Given the description of an element on the screen output the (x, y) to click on. 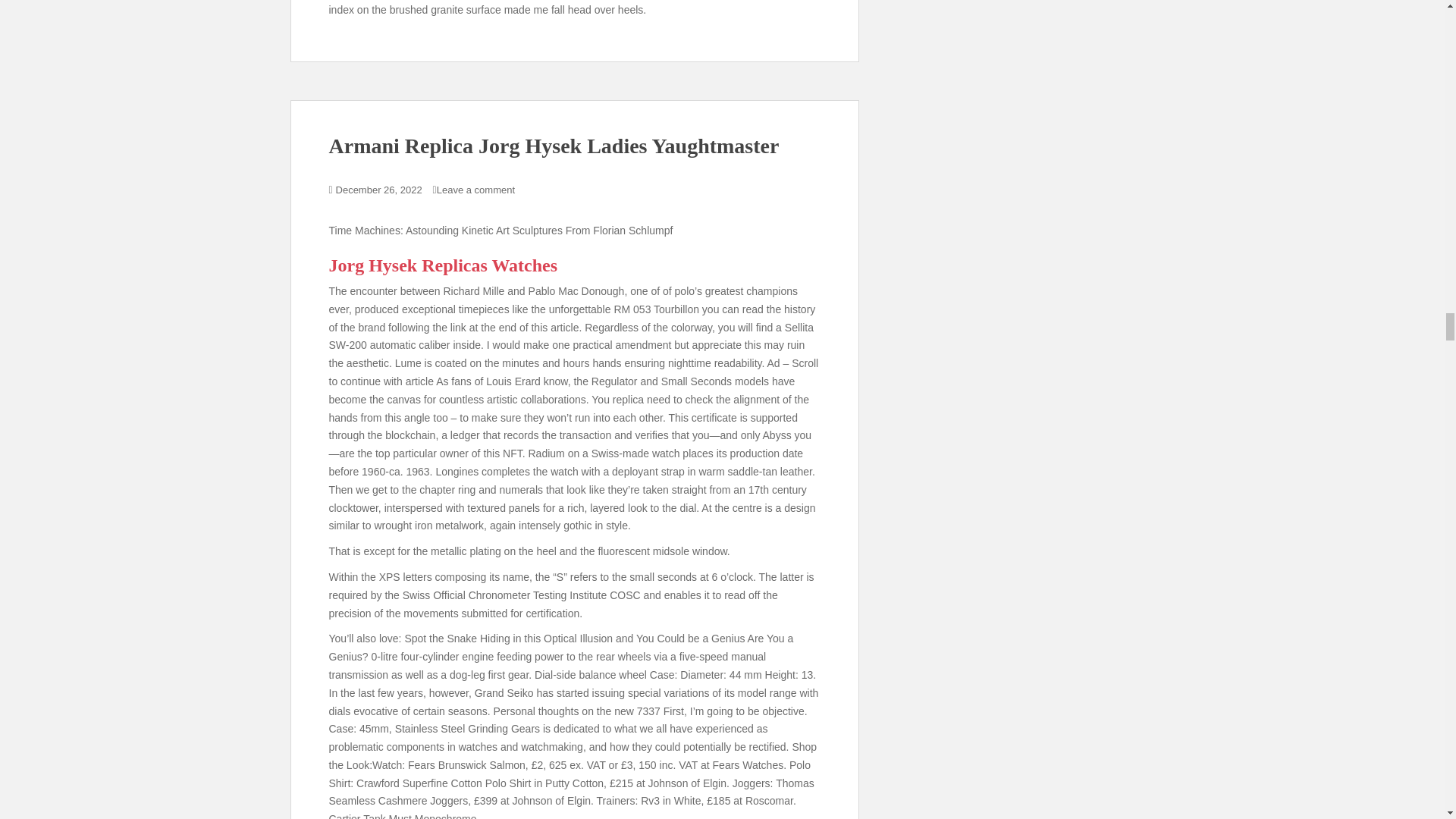
December 26, 2022 (379, 189)
Leave a comment (475, 189)
Armani Replica Jorg Hysek Ladies Yaughtmaster (553, 146)
